Given the description of an element on the screen output the (x, y) to click on. 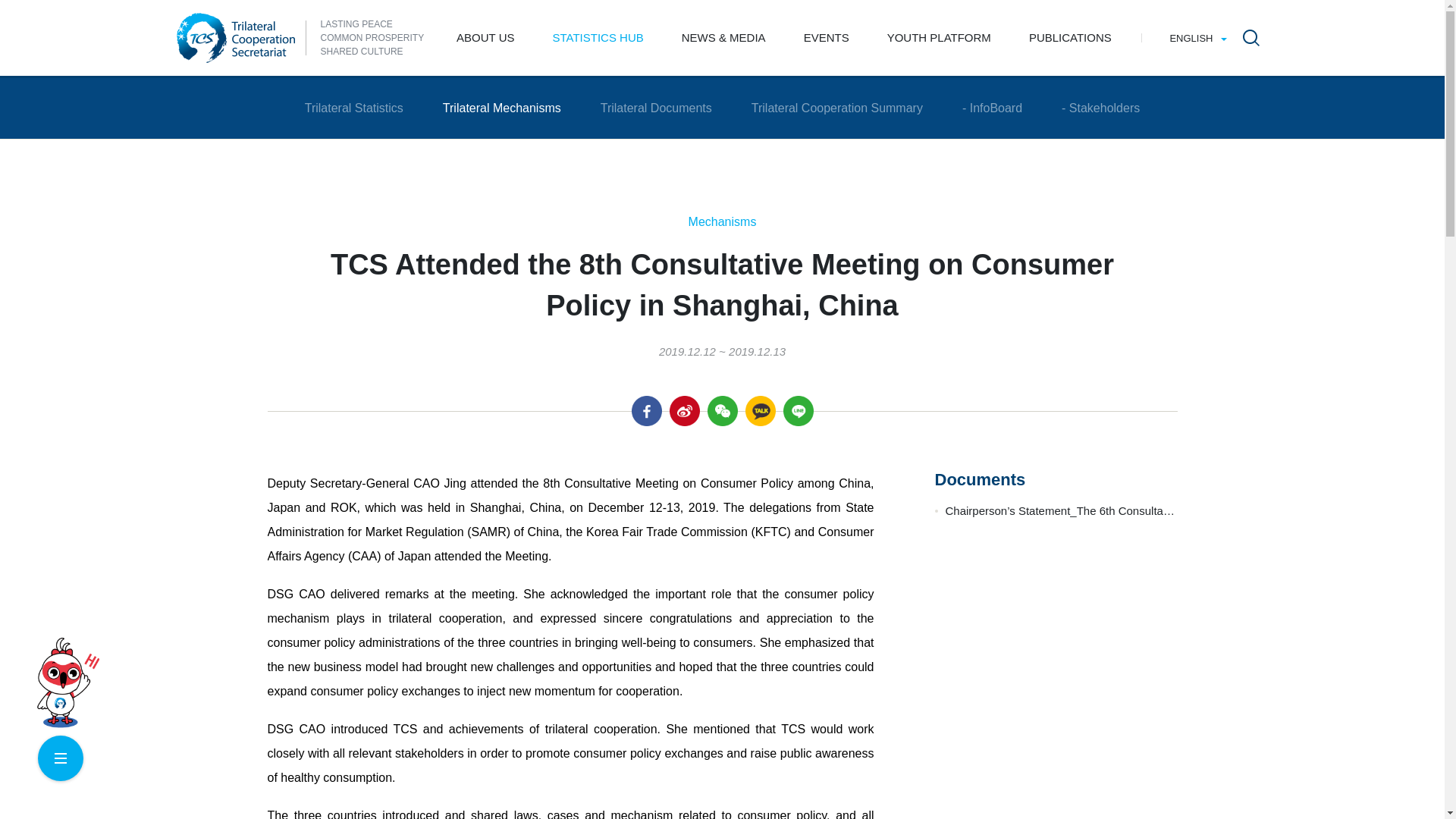
TCS (235, 38)
STATISTICS HUB (597, 38)
ENGLISH (1197, 37)
YOUTH PLATFORM (938, 38)
PUBLICATIONS (1070, 38)
